Given the description of an element on the screen output the (x, y) to click on. 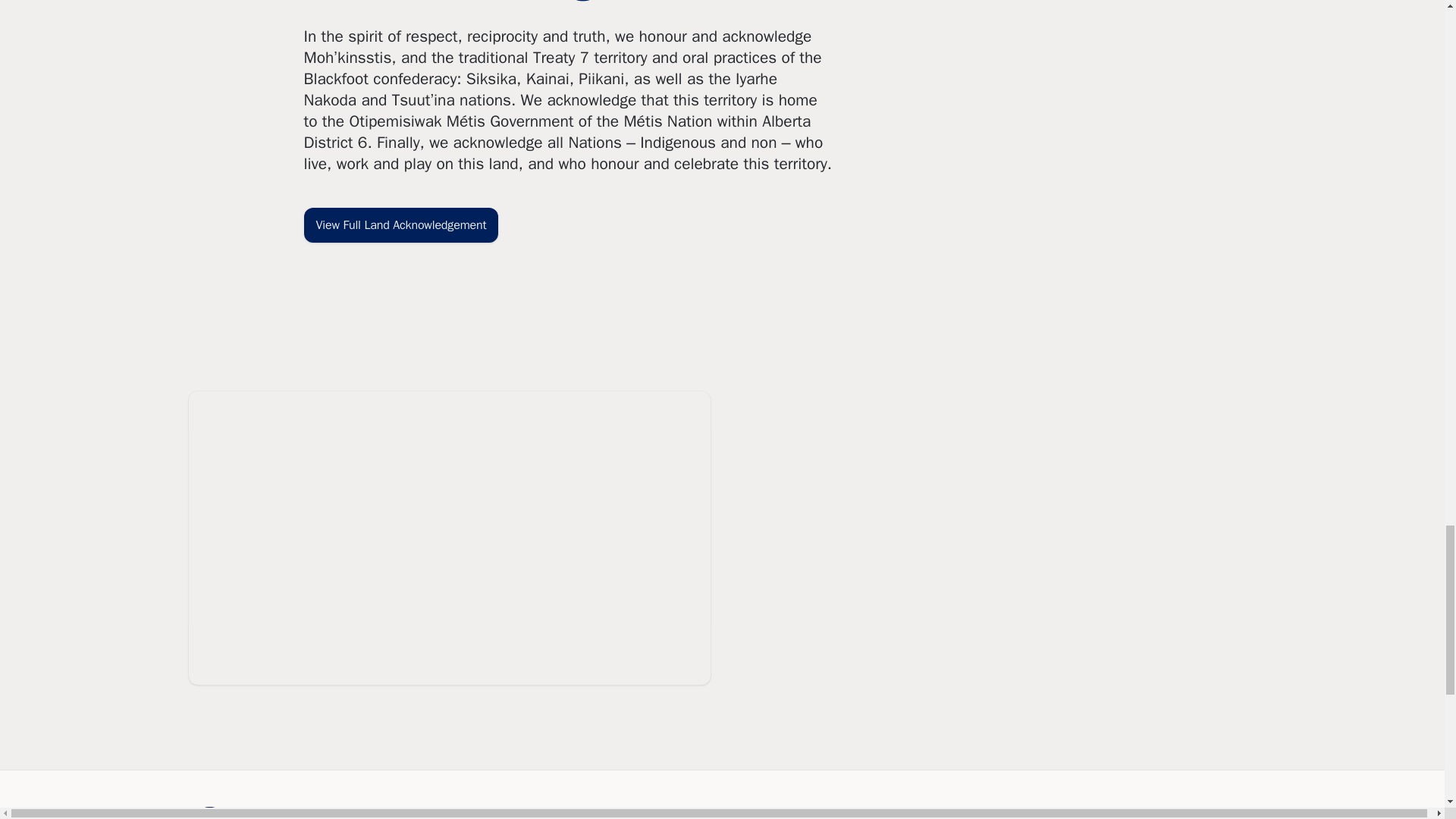
View Full Land Acknowledgement (399, 215)
